Given the description of an element on the screen output the (x, y) to click on. 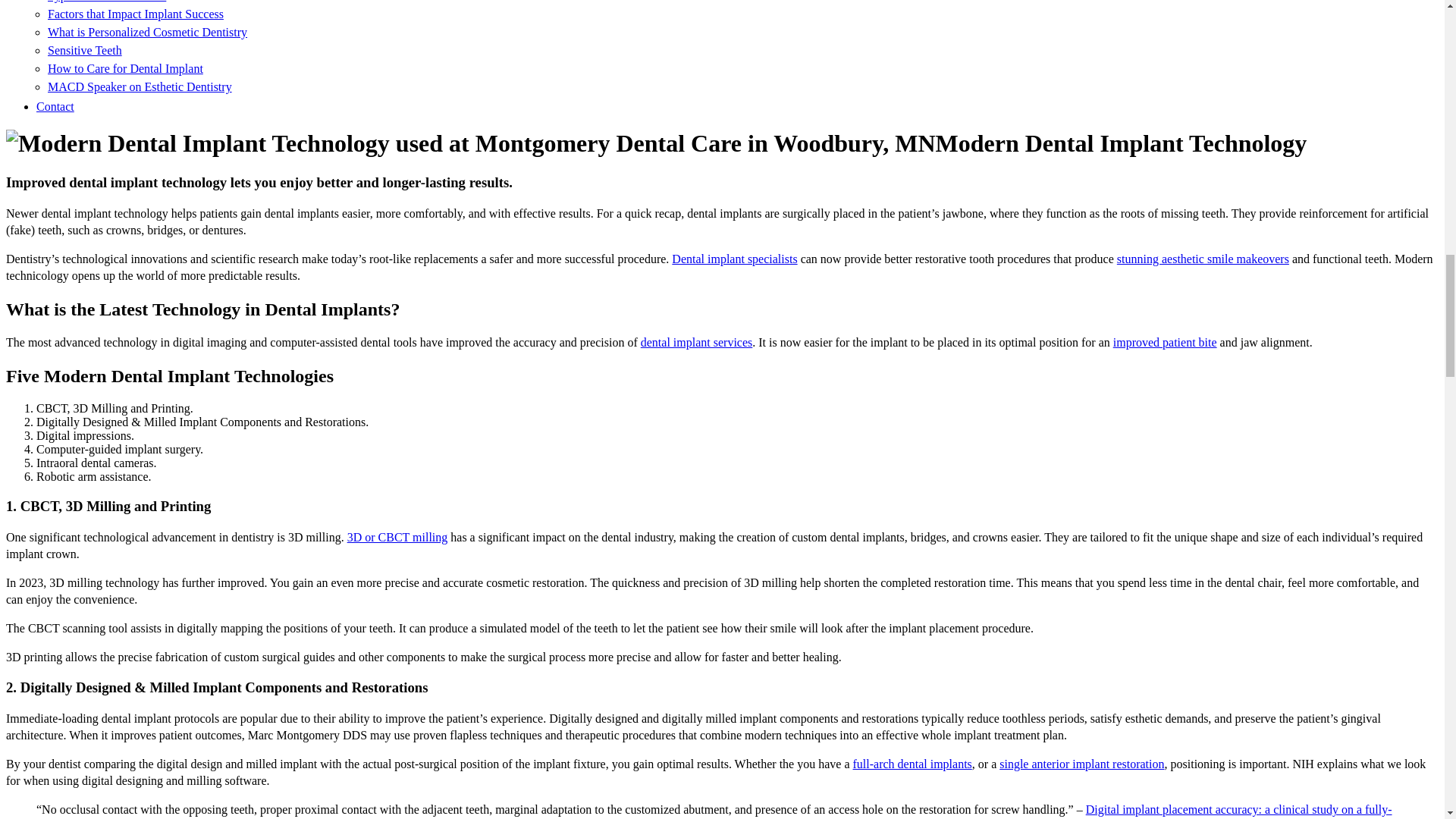
stunning aesthetic smile makeovers (1202, 258)
3D or CBCT milling (397, 536)
single anterior implant restoration (1080, 763)
improved patient bite (1165, 341)
full-arch dental implants (912, 763)
Dental implant specialists (733, 258)
dental implant services (696, 341)
